Given the description of an element on the screen output the (x, y) to click on. 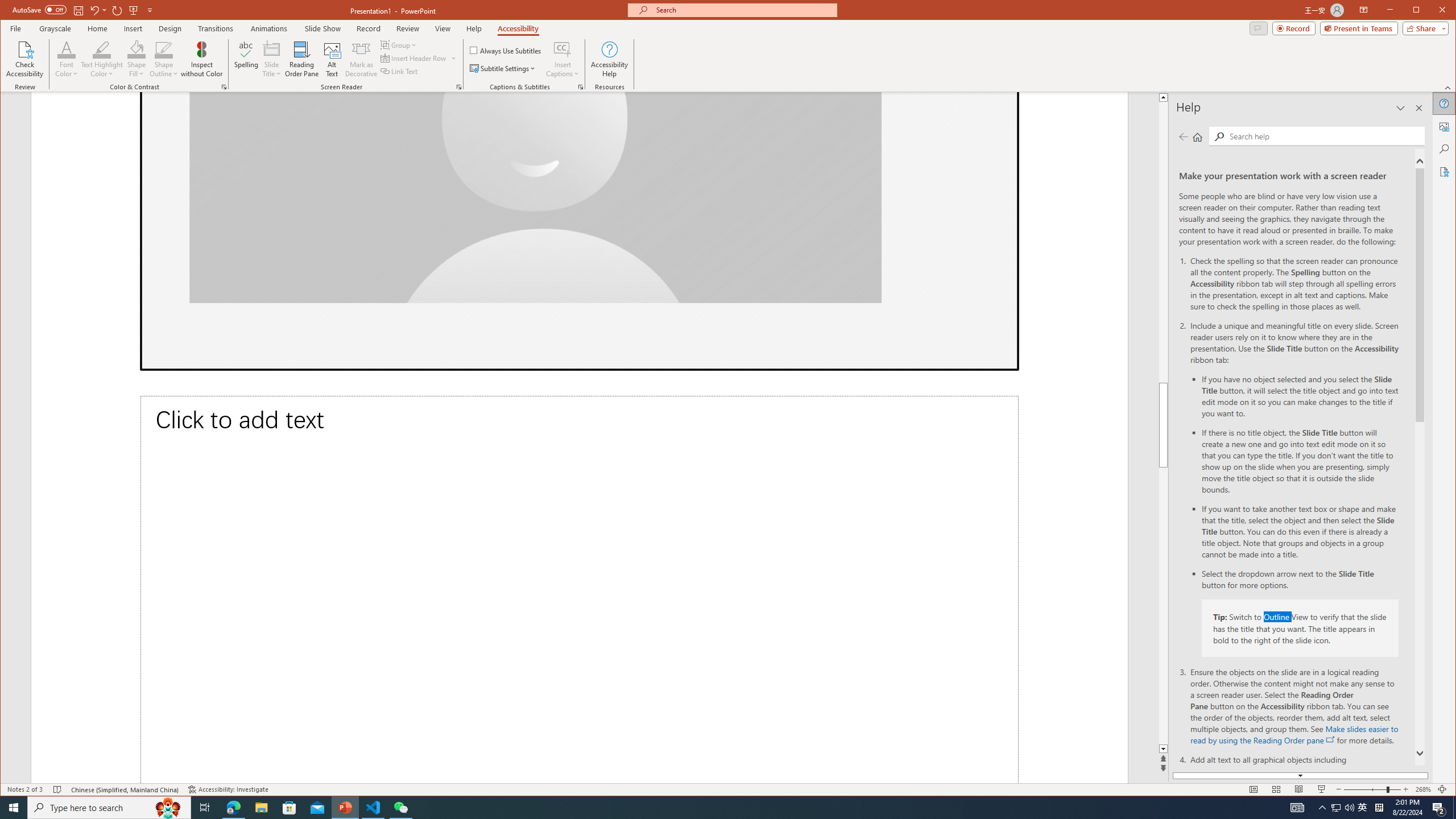
Mark as Decorative (360, 59)
openinnewwindow (1330, 739)
